Given the description of an element on the screen output the (x, y) to click on. 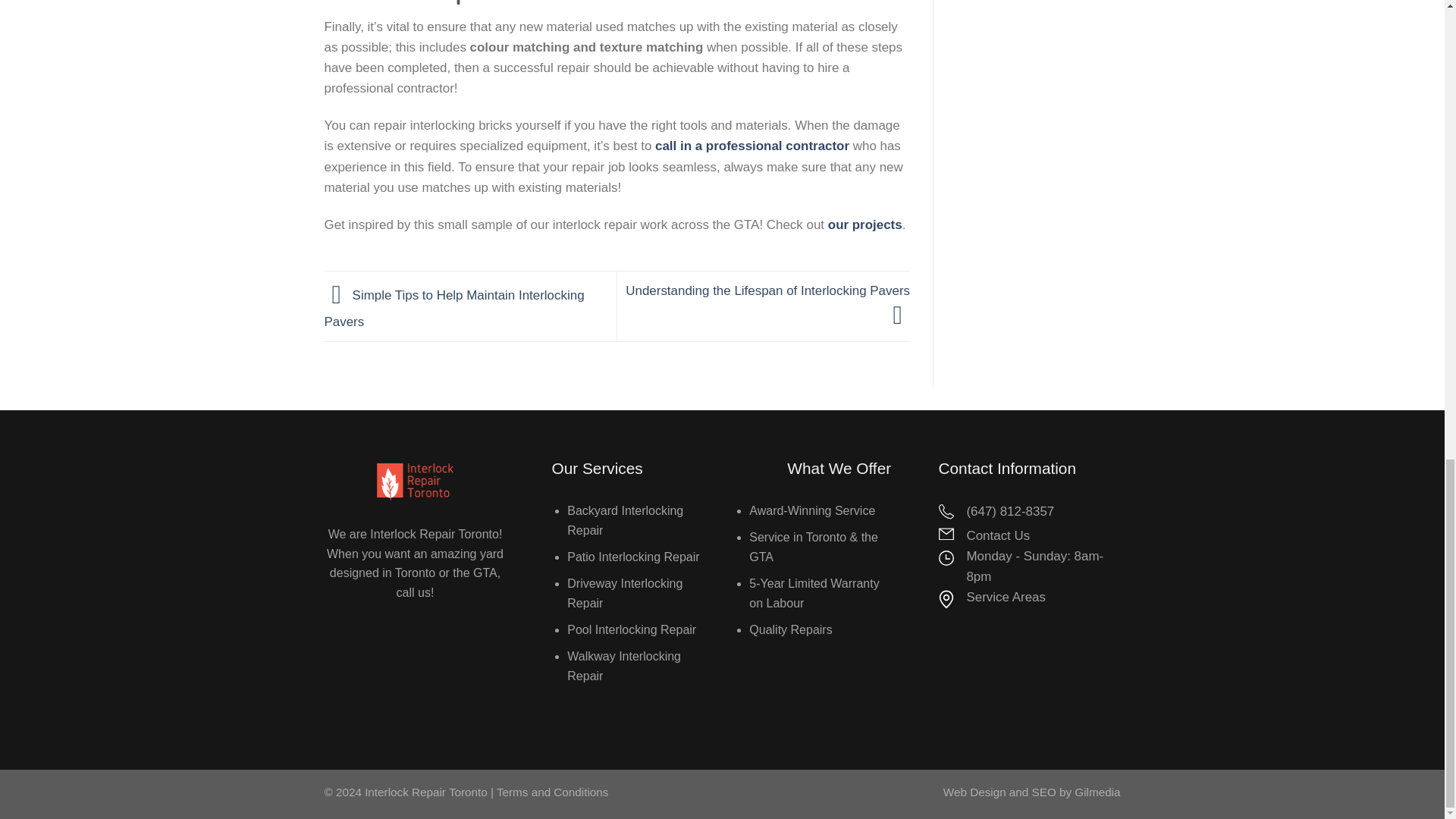
our projects (865, 224)
Patio Interlocking Repair (632, 556)
Understanding the Lifespan of Interlocking Pavers (768, 302)
call in a professional contractor (751, 145)
Backyard Interlocking Repair (624, 520)
Driveway Interlocking Repair (624, 593)
Simple Tips to Help Maintain Interlocking Pavers (454, 308)
Walkway Interlocking Repair (624, 666)
Pool Interlocking Repair (631, 629)
